Given the description of an element on the screen output the (x, y) to click on. 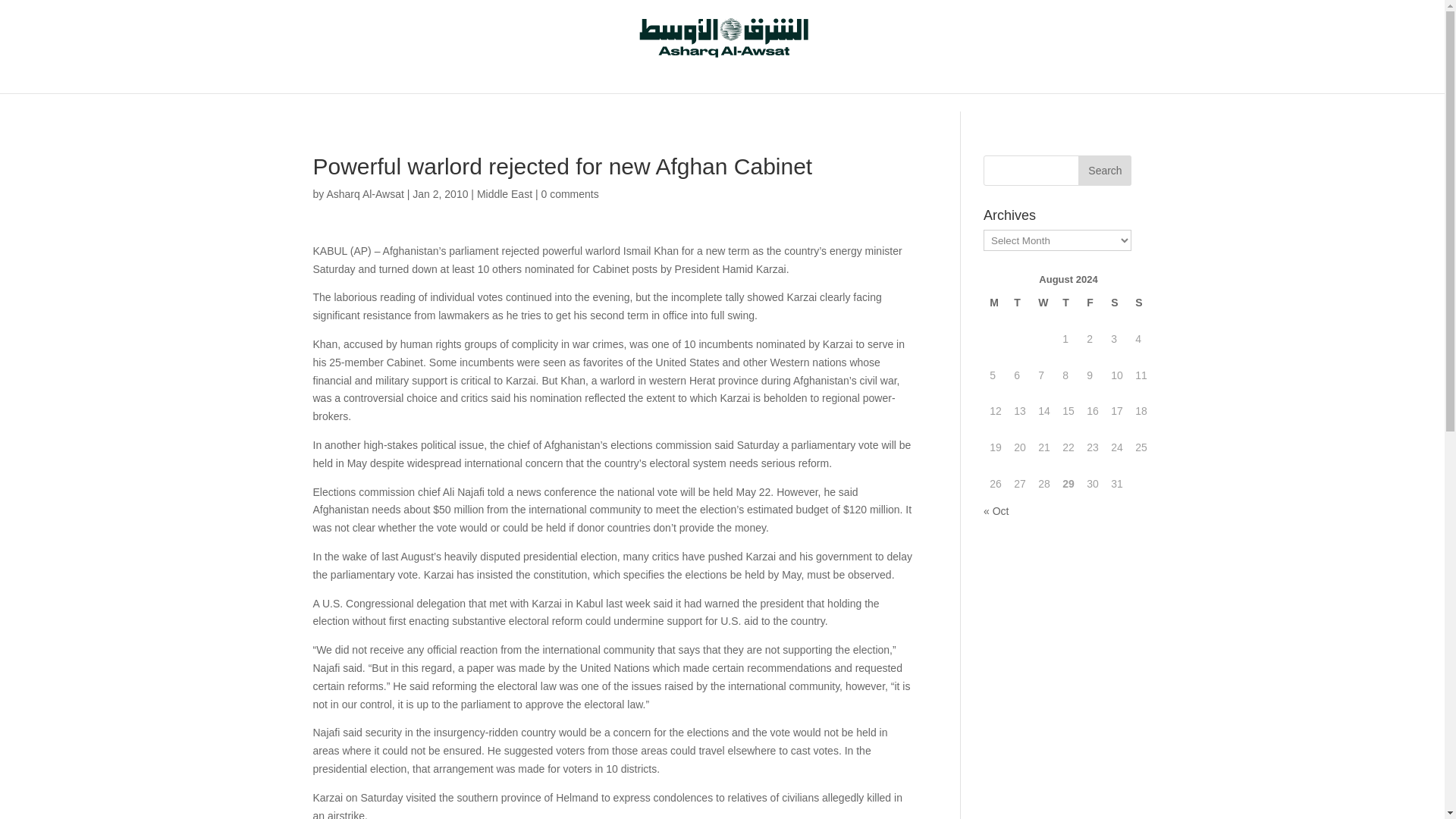
Search (1104, 170)
Middle East (504, 193)
Posts by Asharq Al-Awsat (364, 193)
0 comments (569, 193)
Search (1104, 170)
Asharq Al-Awsat (364, 193)
